Given the description of an element on the screen output the (x, y) to click on. 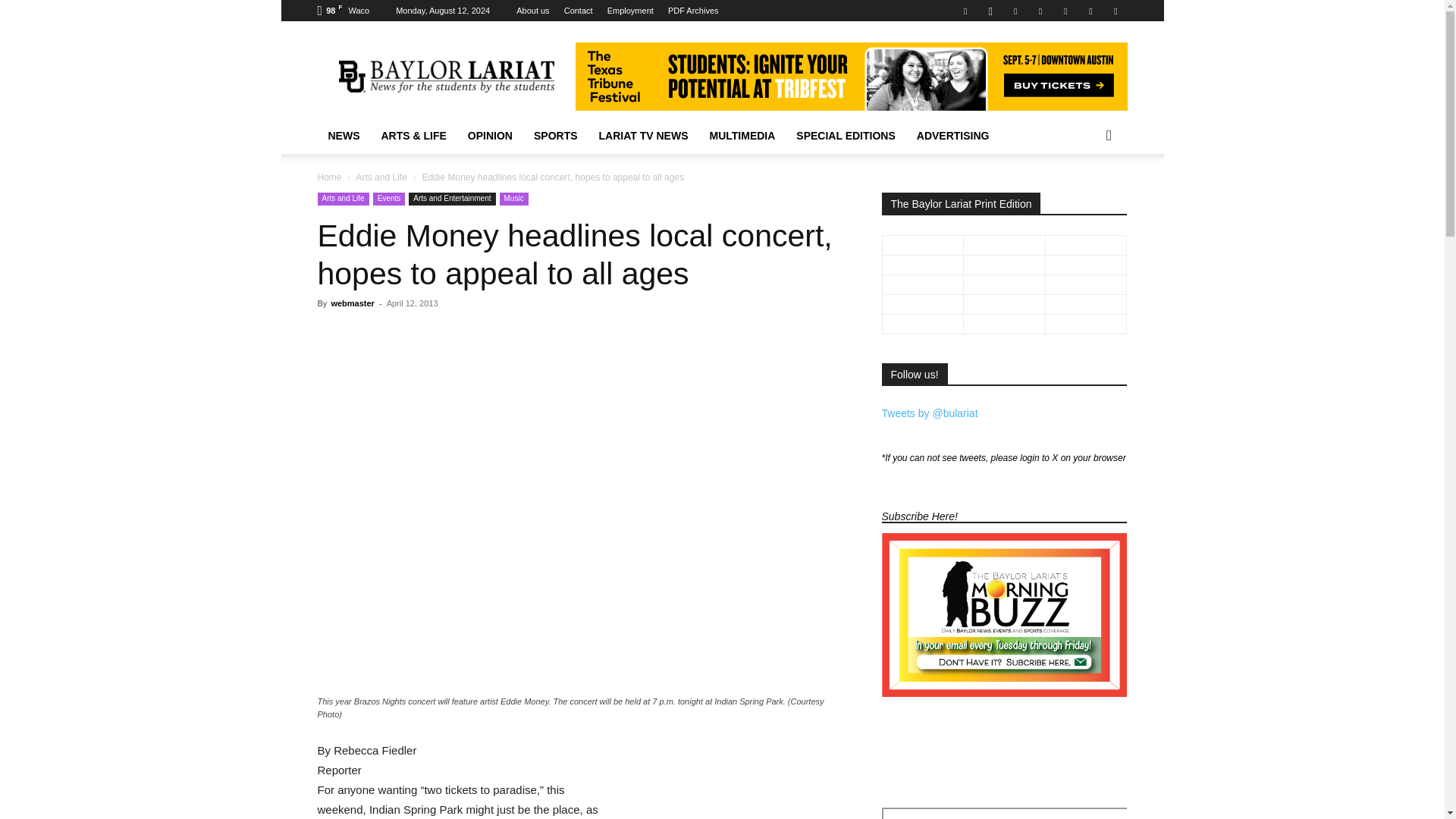
Contact the Lariat (578, 10)
Instagram (989, 10)
Facebook (964, 10)
Linkedin (1015, 10)
Student Employment (630, 10)
